Given the description of an element on the screen output the (x, y) to click on. 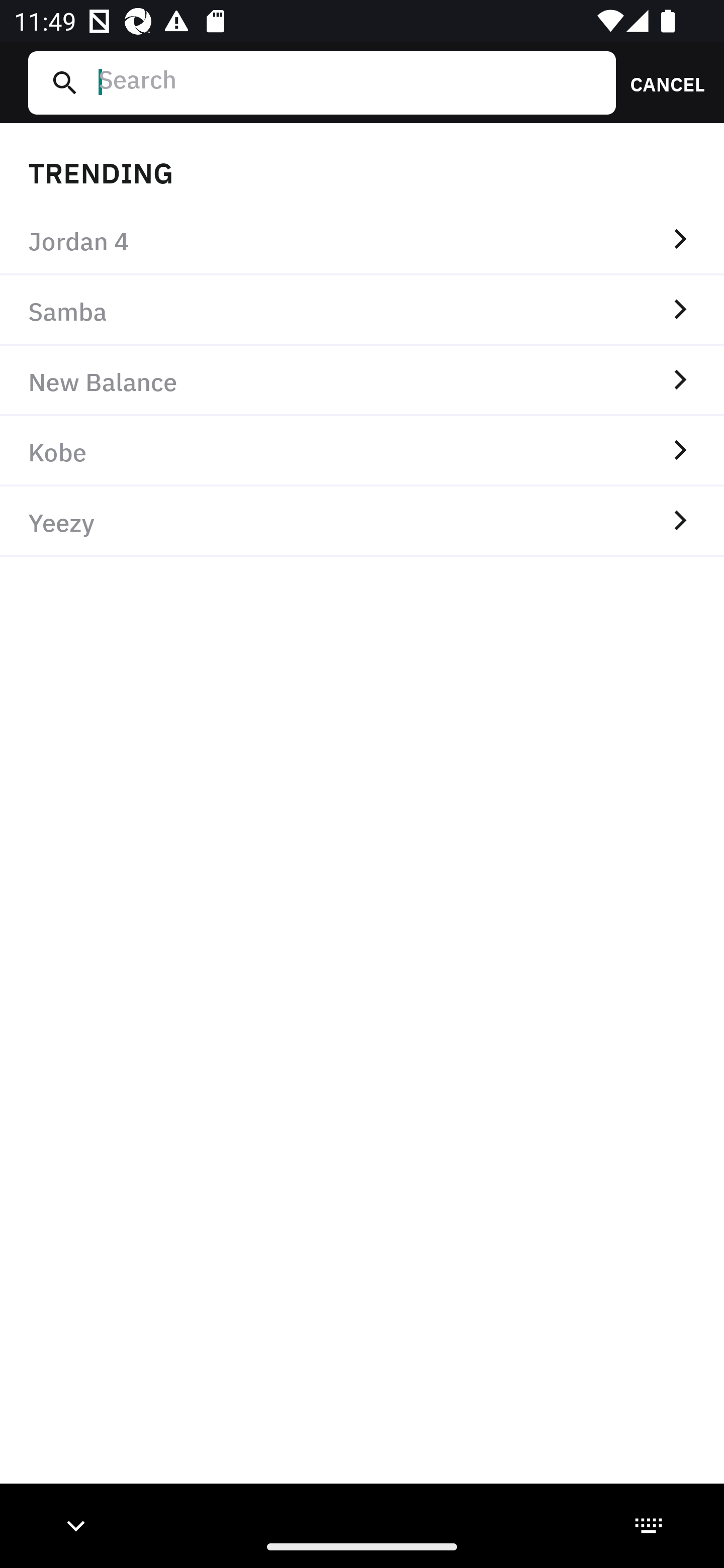
CANCEL (660, 82)
Search (349, 82)
Jordan 4  (362, 240)
Samba  (362, 310)
New Balance  (362, 380)
Kobe  (362, 450)
Yeezy  (362, 521)
